Given the description of an element on the screen output the (x, y) to click on. 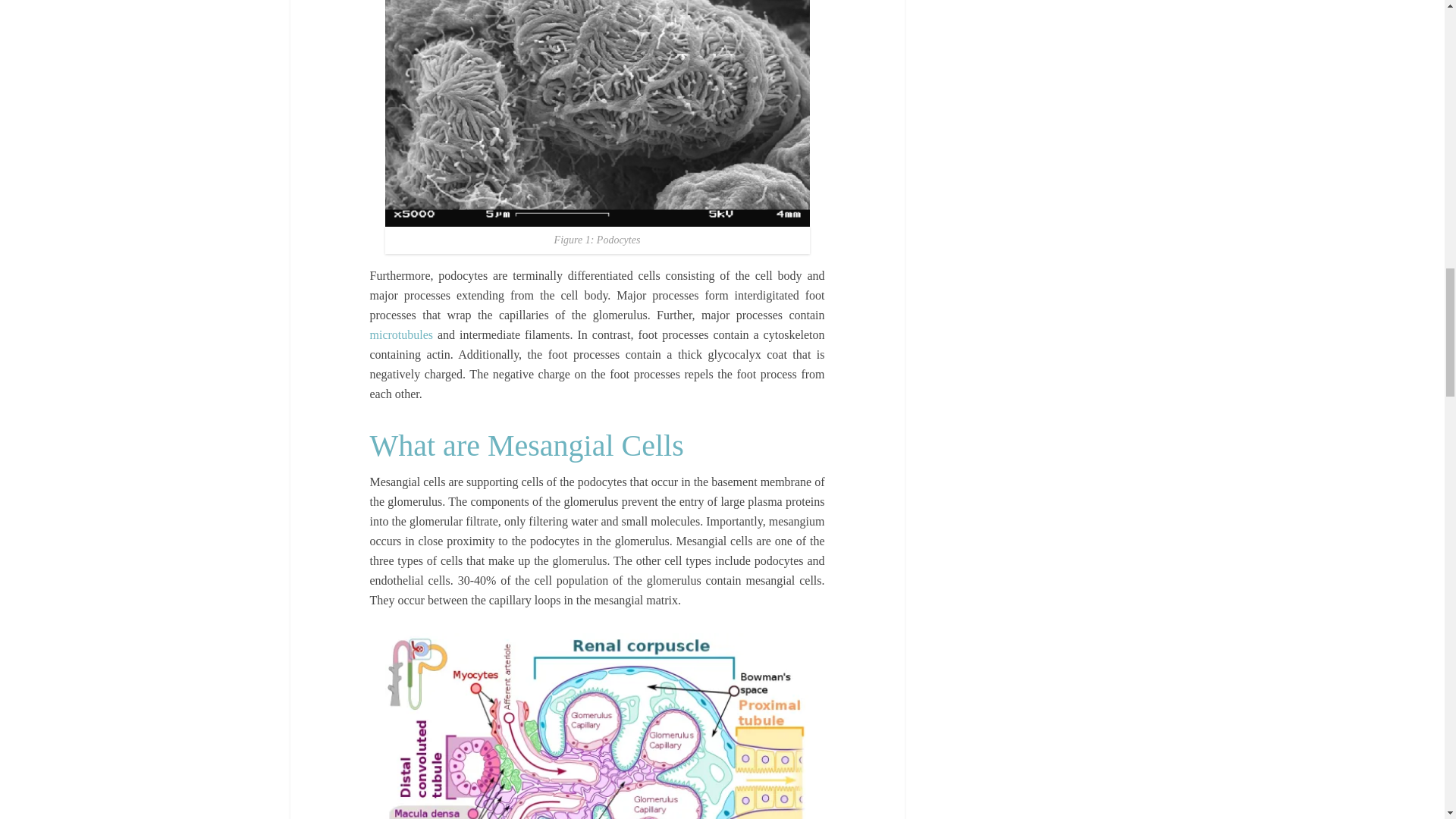
microtubules (401, 334)
